Given the description of an element on the screen output the (x, y) to click on. 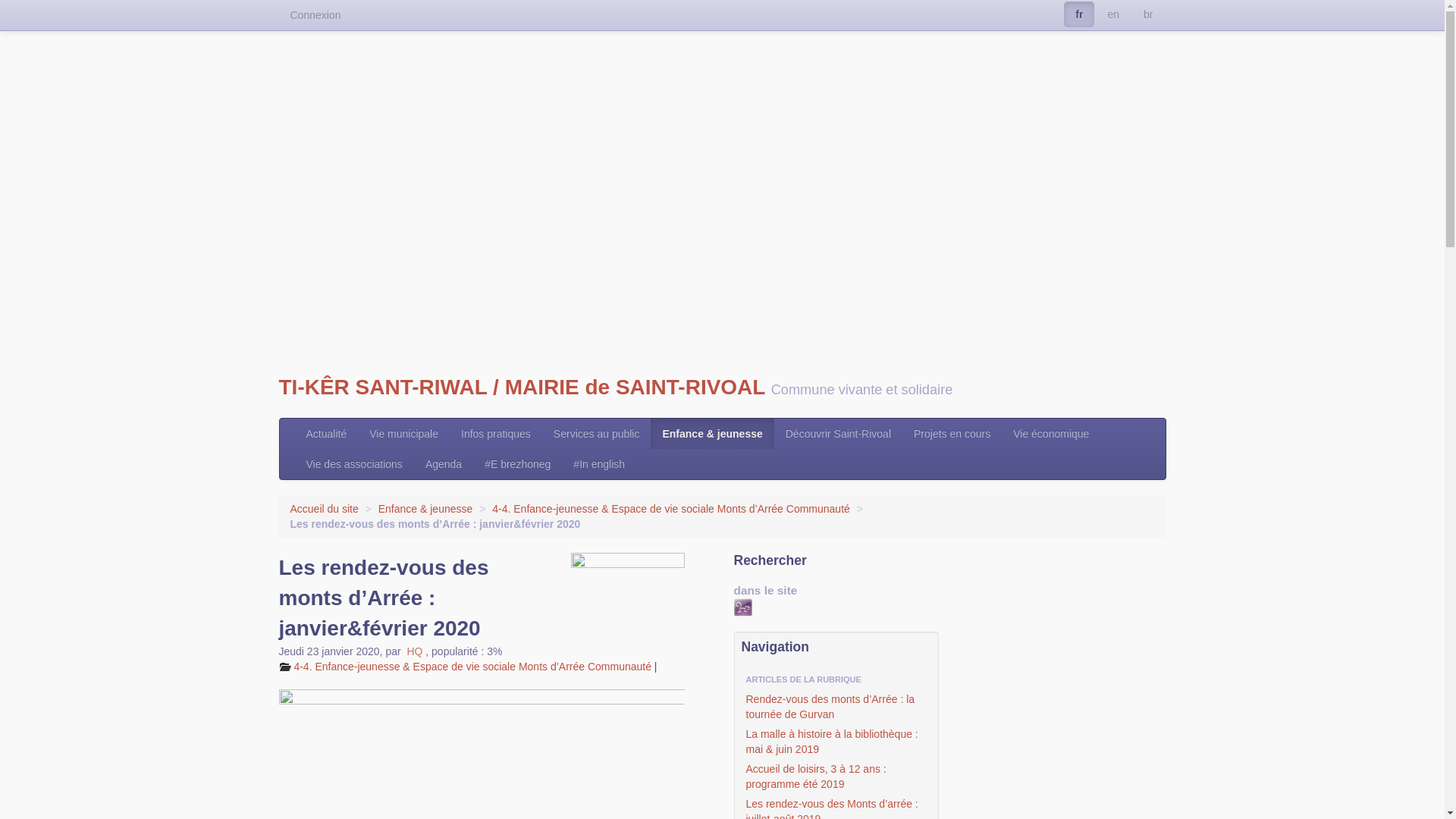
Services au public Element type: text (596, 433)
Infos pratiques Element type: text (495, 433)
#In english Element type: text (598, 463)
Enfance & jeunesse Element type: text (711, 433)
Enfance & jeunesse Element type: text (425, 508)
Vie municipale Element type: text (403, 433)
Accueil du site Element type: text (323, 508)
Vie des associations Element type: text (353, 463)
en Element type: text (1112, 14)
fr Element type: text (1078, 14)
HQ Element type: text (414, 651)
Agenda Element type: text (443, 463)
Projets en cours Element type: text (951, 433)
Connexion Element type: text (315, 15)
#E brezhoneg Element type: text (517, 463)
br Element type: text (1148, 14)
